Given the description of an element on the screen output the (x, y) to click on. 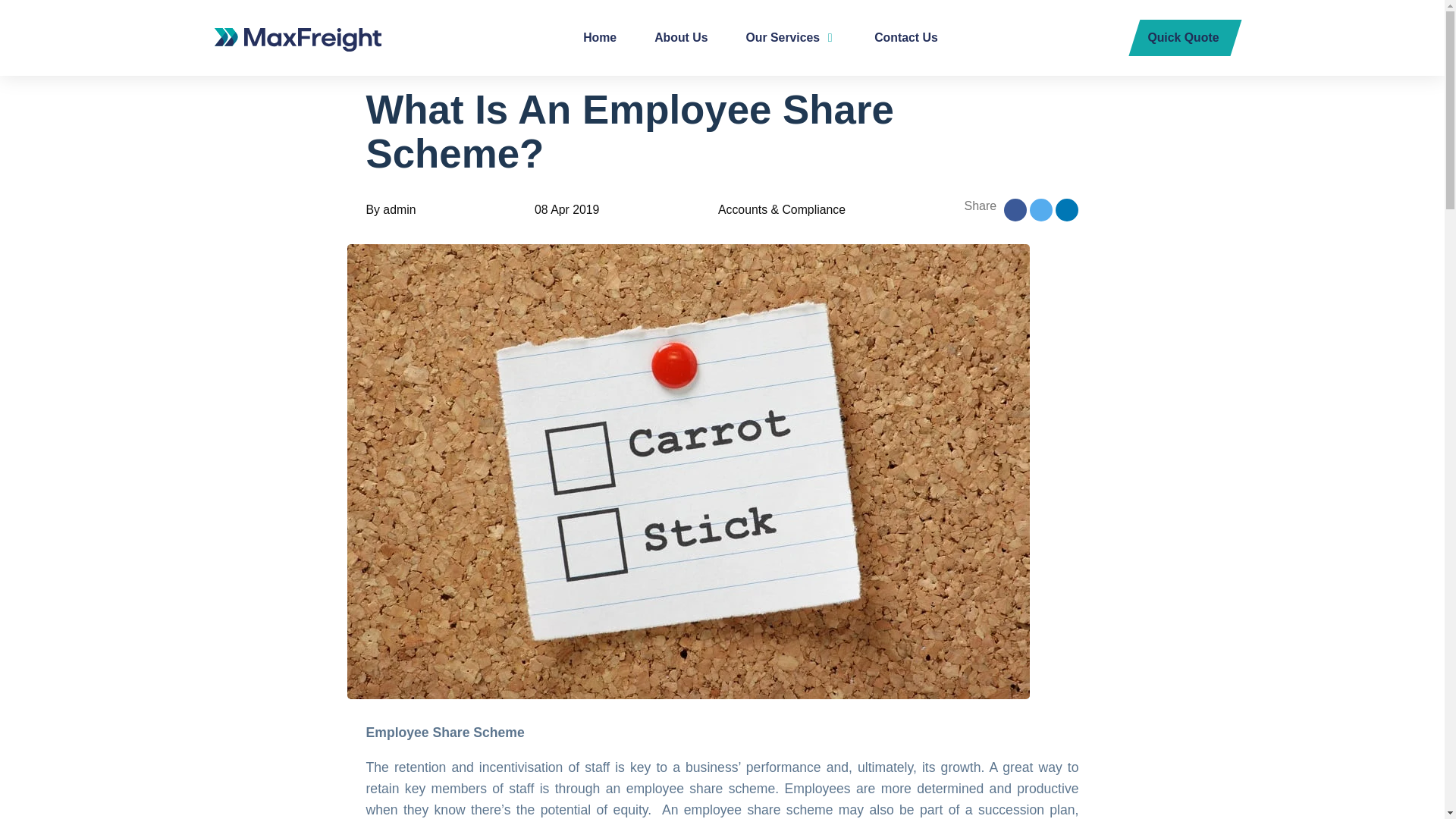
Share on LinkedIn (1066, 210)
Share on Twitter (1040, 210)
Our Services (790, 38)
Home (599, 38)
Contact Us (906, 38)
Quick Quote (1184, 37)
About Us (680, 38)
Back to Insights (432, 46)
Share on Facebook (1015, 210)
